Given the description of an element on the screen output the (x, y) to click on. 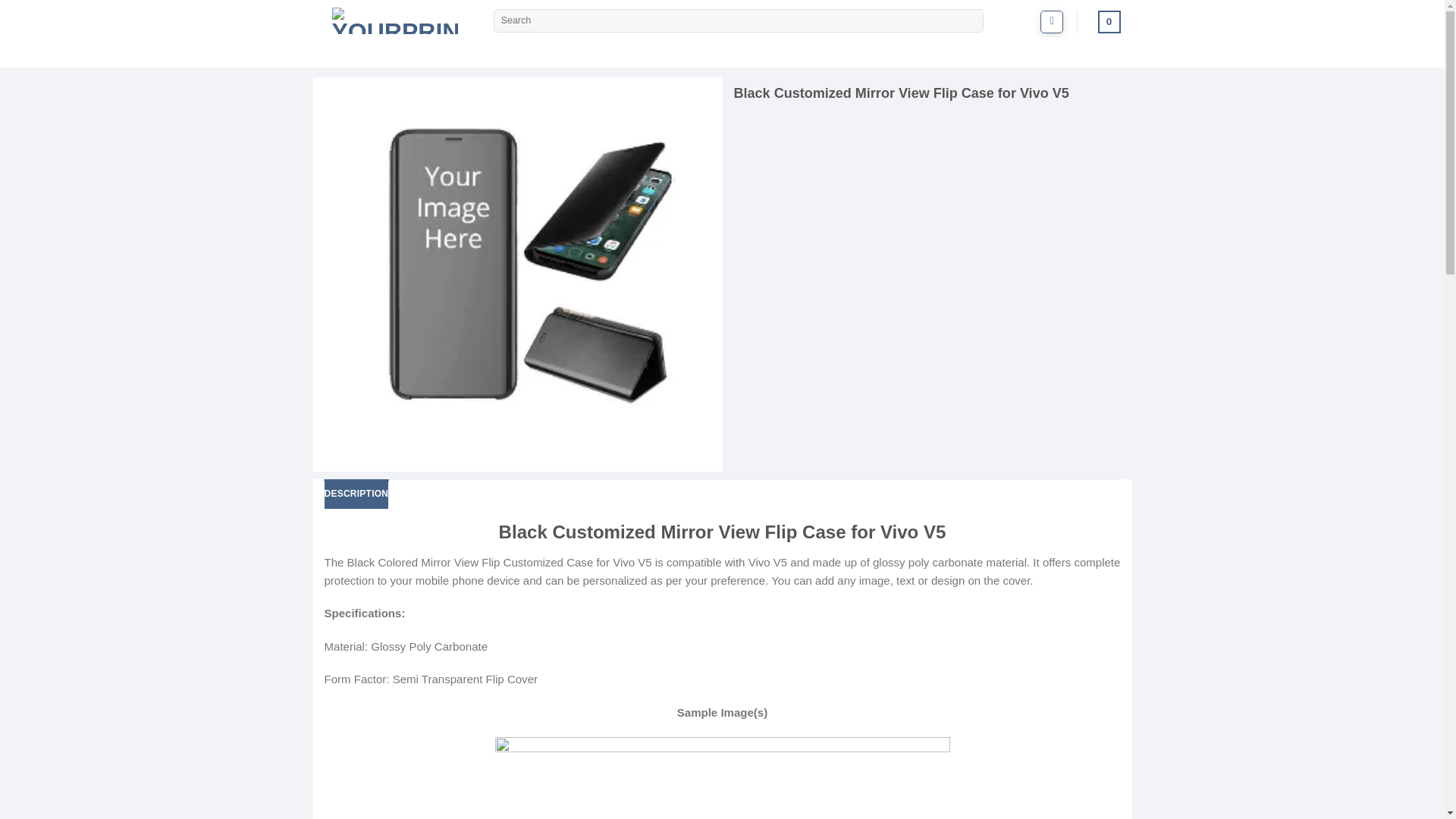
yourPrint (397, 20)
DESCRIPTION (356, 493)
Search (969, 21)
